Given the description of an element on the screen output the (x, y) to click on. 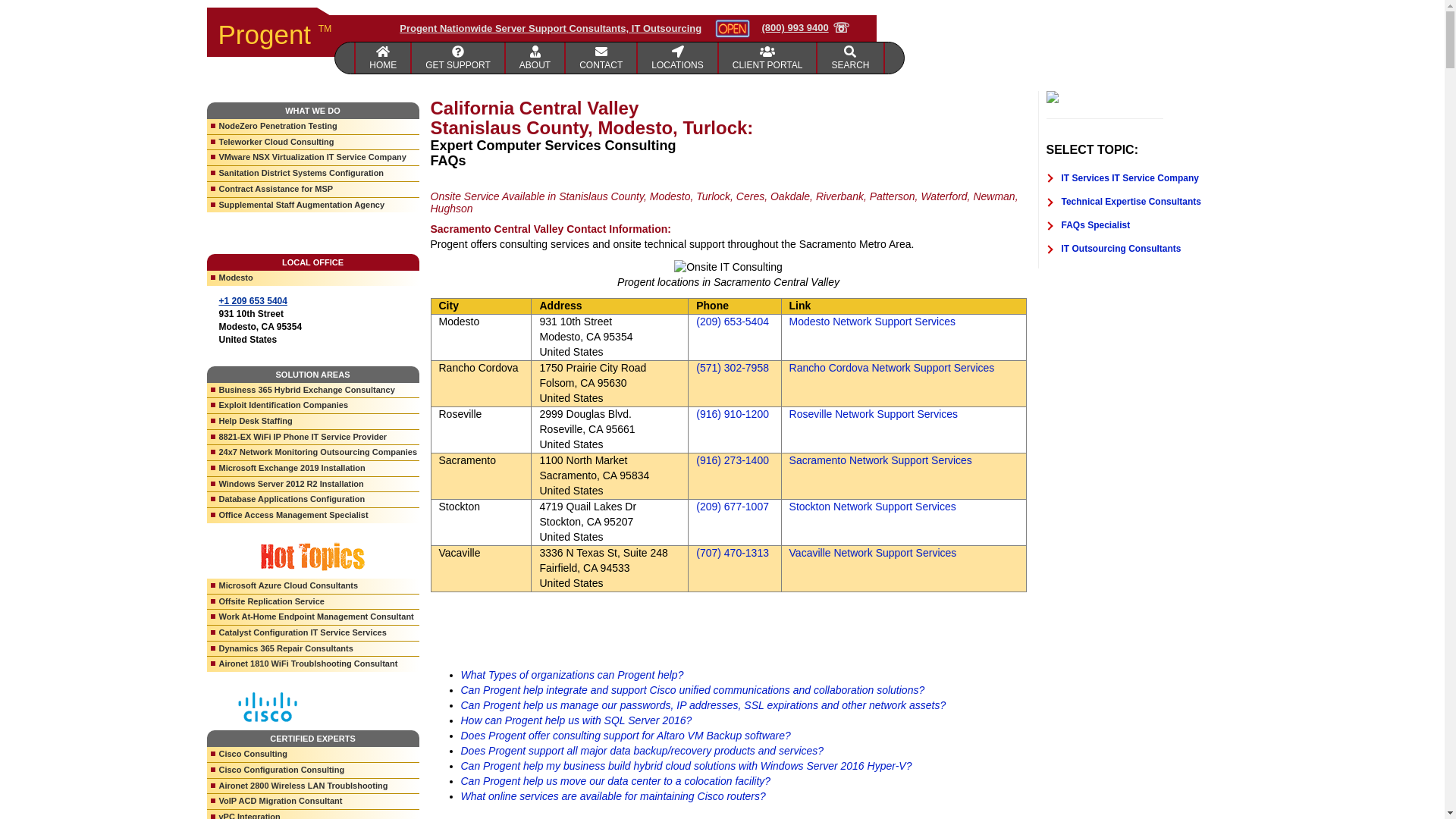
Roseville Network Consulting Services (873, 413)
24x7 Network Monitoring Outsourcing Companies (312, 453)
Help Desk Staffing (312, 421)
ABOUT (535, 57)
CLIENT PORTAL (768, 57)
Small Business Online Consulting (535, 57)
Office Access Management Specialist (312, 515)
Offsite Replication Service (312, 602)
NodeZero Penetration Testing (312, 126)
Stockton Network Consulting Services (872, 506)
